Given the description of an element on the screen output the (x, y) to click on. 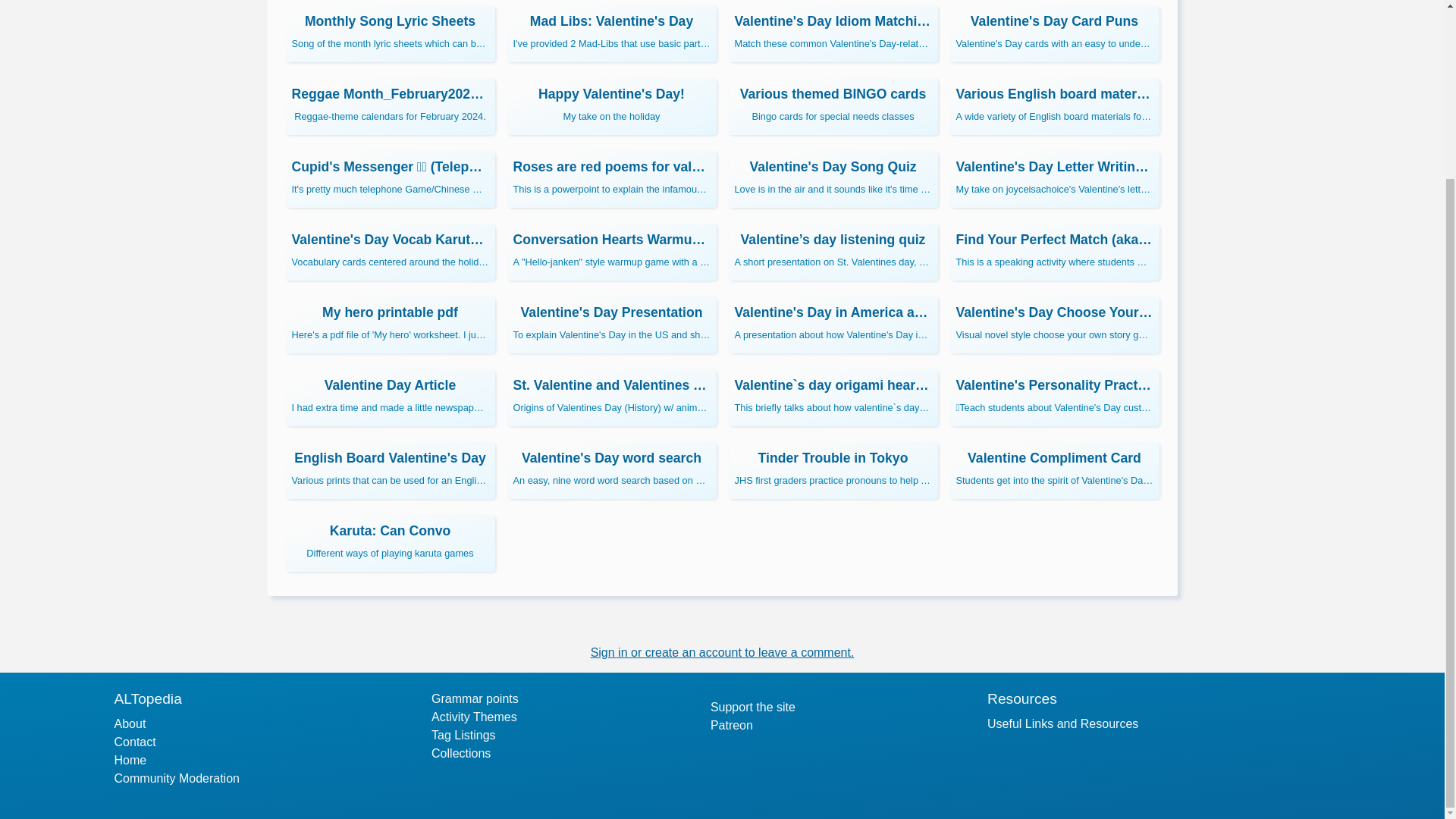
My take on the holiday (611, 106)
Valentine's Day cards with an easy to understand pun.  (1053, 33)
